Given the description of an element on the screen output the (x, y) to click on. 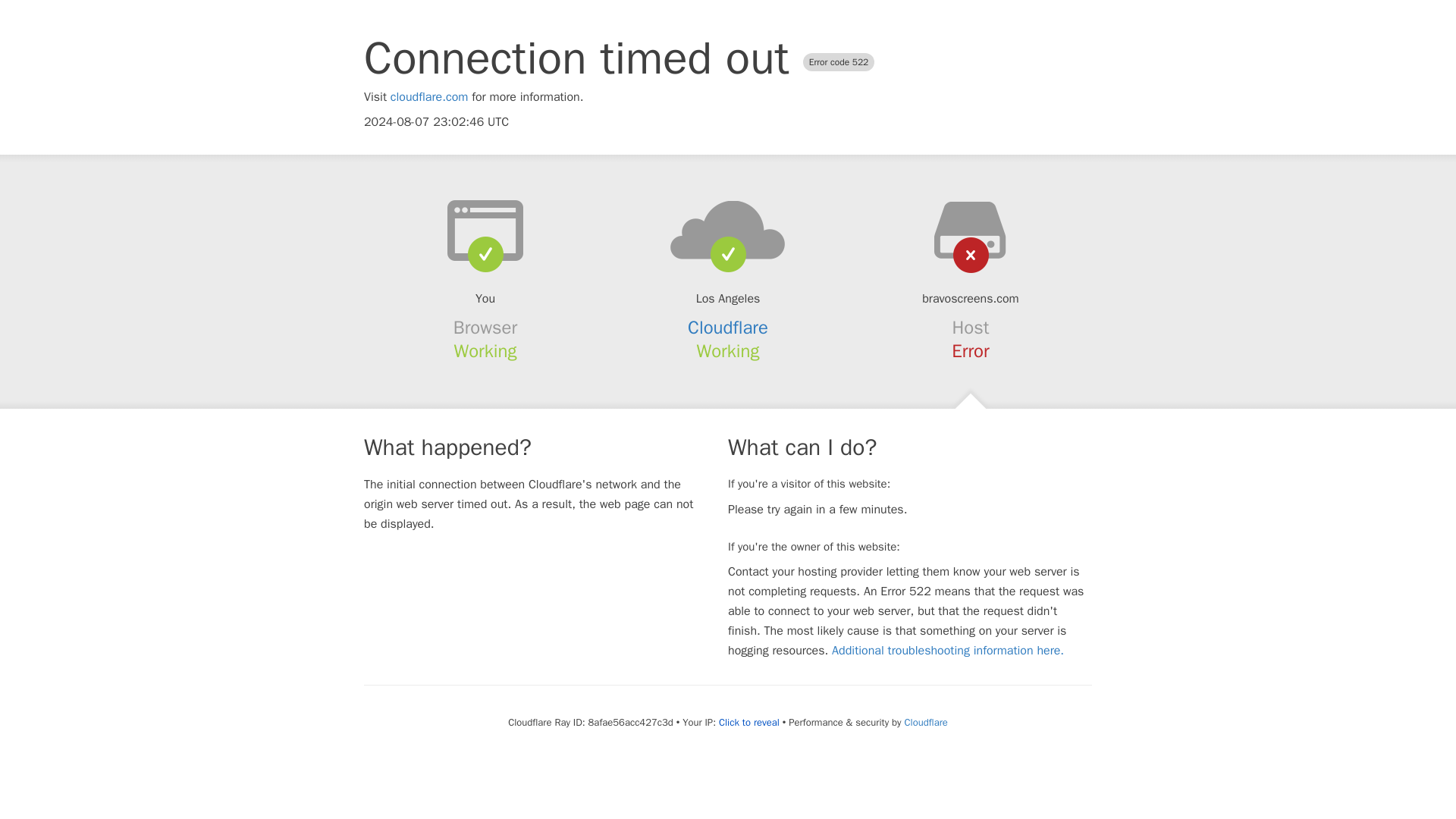
Additional troubleshooting information here. (947, 650)
Click to reveal (748, 722)
cloudflare.com (429, 96)
Cloudflare (727, 327)
Cloudflare (925, 721)
